Given the description of an element on the screen output the (x, y) to click on. 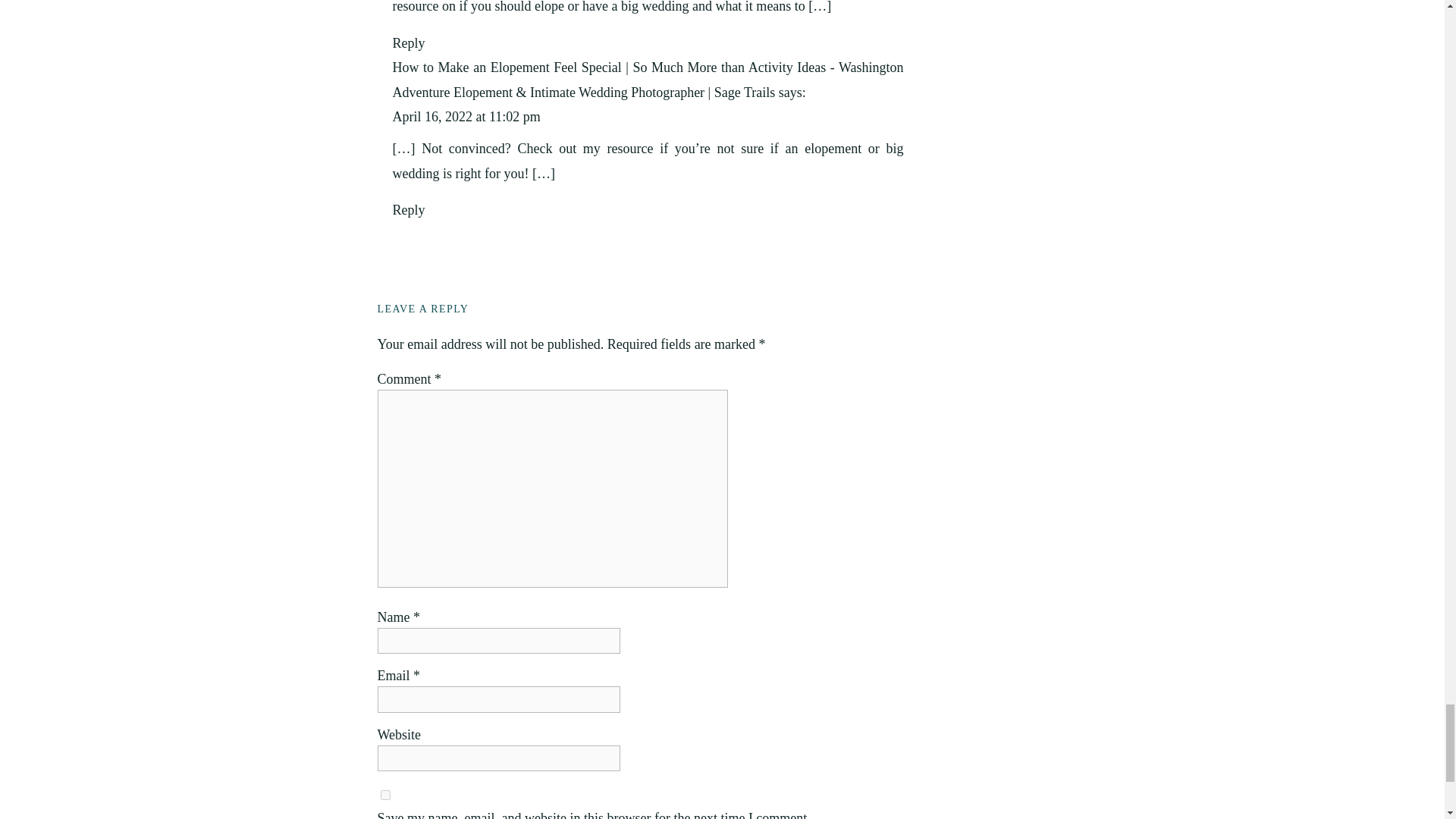
yes (385, 795)
